Given the description of an element on the screen output the (x, y) to click on. 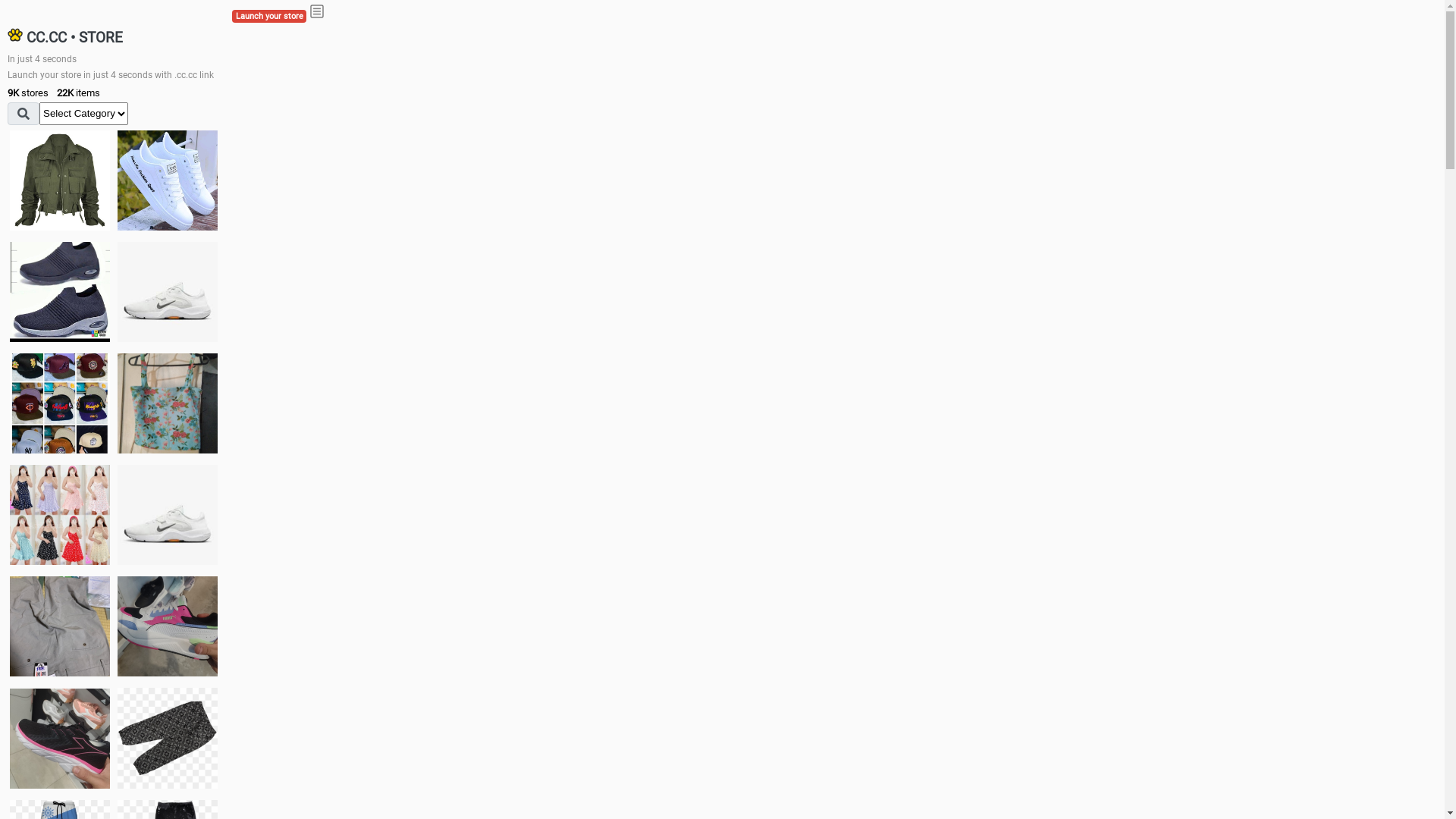
Ukay cloth Element type: hover (167, 403)
Things we need Element type: hover (59, 403)
jacket Element type: hover (59, 180)
white shoes Element type: hover (167, 180)
Zapatillas Element type: hover (59, 738)
Shoes for boys Element type: hover (167, 291)
shoes for boys Element type: hover (59, 291)
Zapatillas pumas Element type: hover (167, 626)
Short pant Element type: hover (167, 737)
Launch your store Element type: text (269, 15)
Shoes Element type: hover (167, 514)
Dress/square nect top Element type: hover (59, 514)
